Given the description of an element on the screen output the (x, y) to click on. 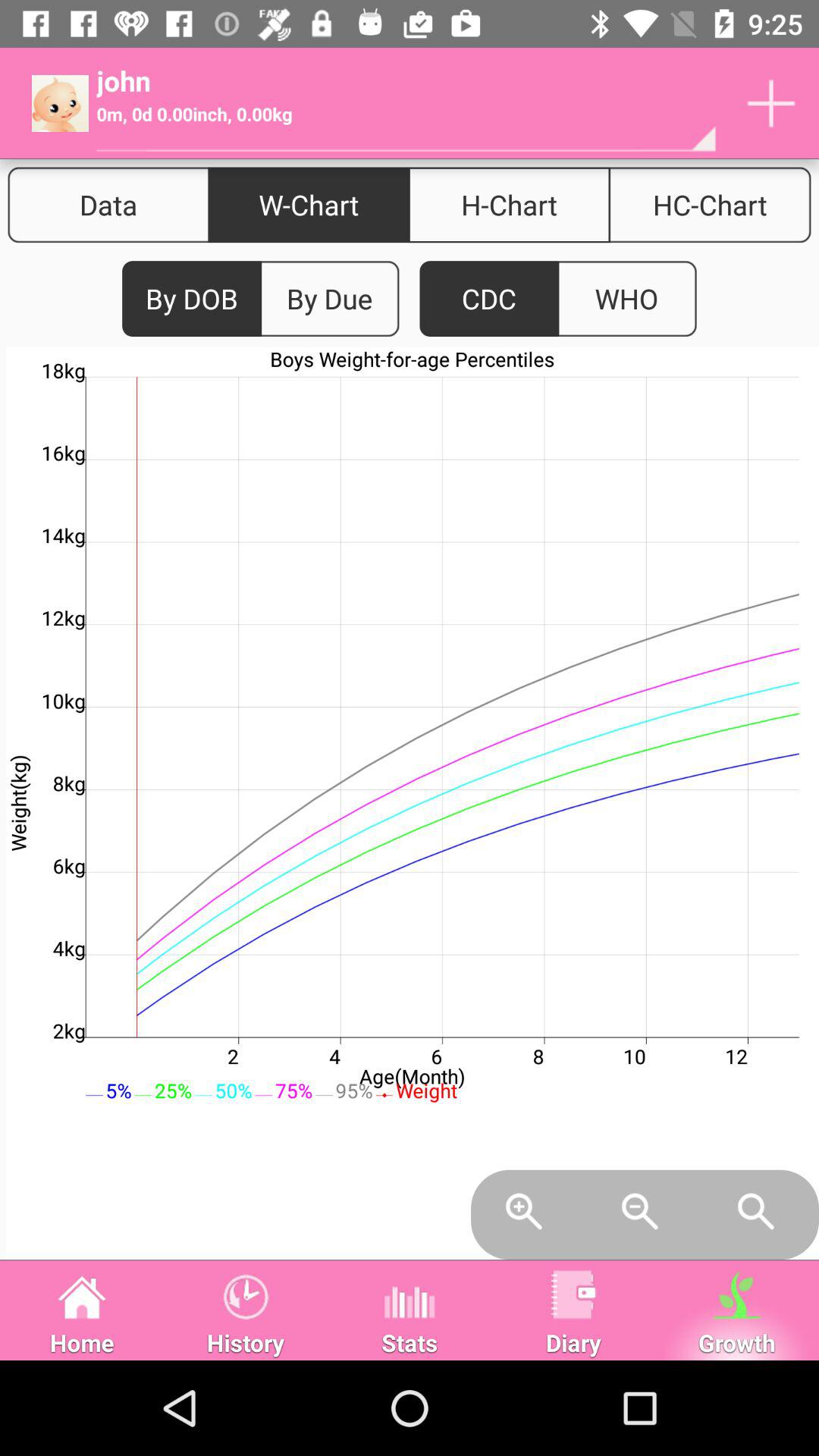
select w-chart item (309, 204)
